Given the description of an element on the screen output the (x, y) to click on. 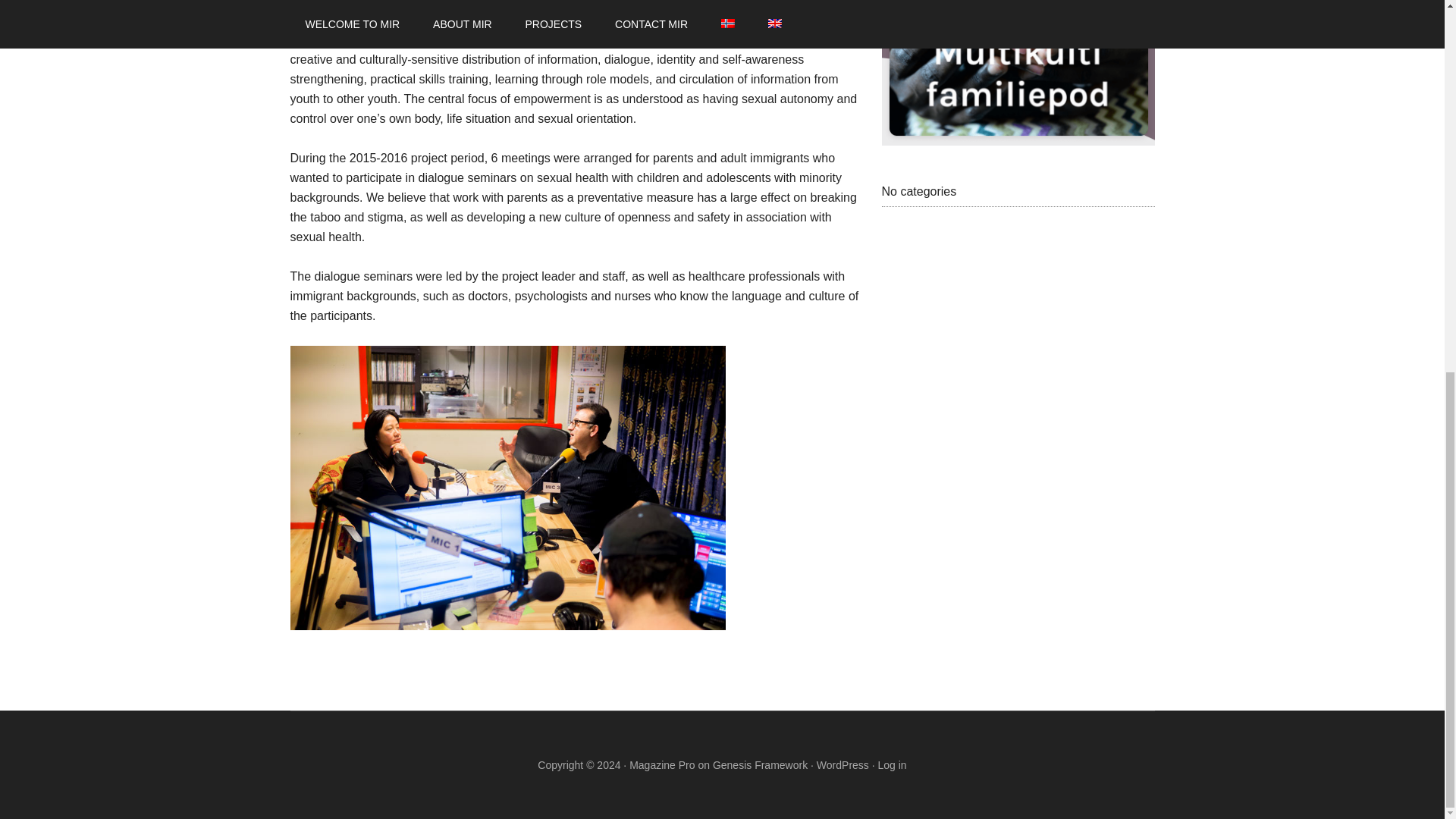
WordPress (842, 765)
Genesis Framework (760, 765)
Magazine Pro (661, 765)
Log in (892, 765)
